Given the description of an element on the screen output the (x, y) to click on. 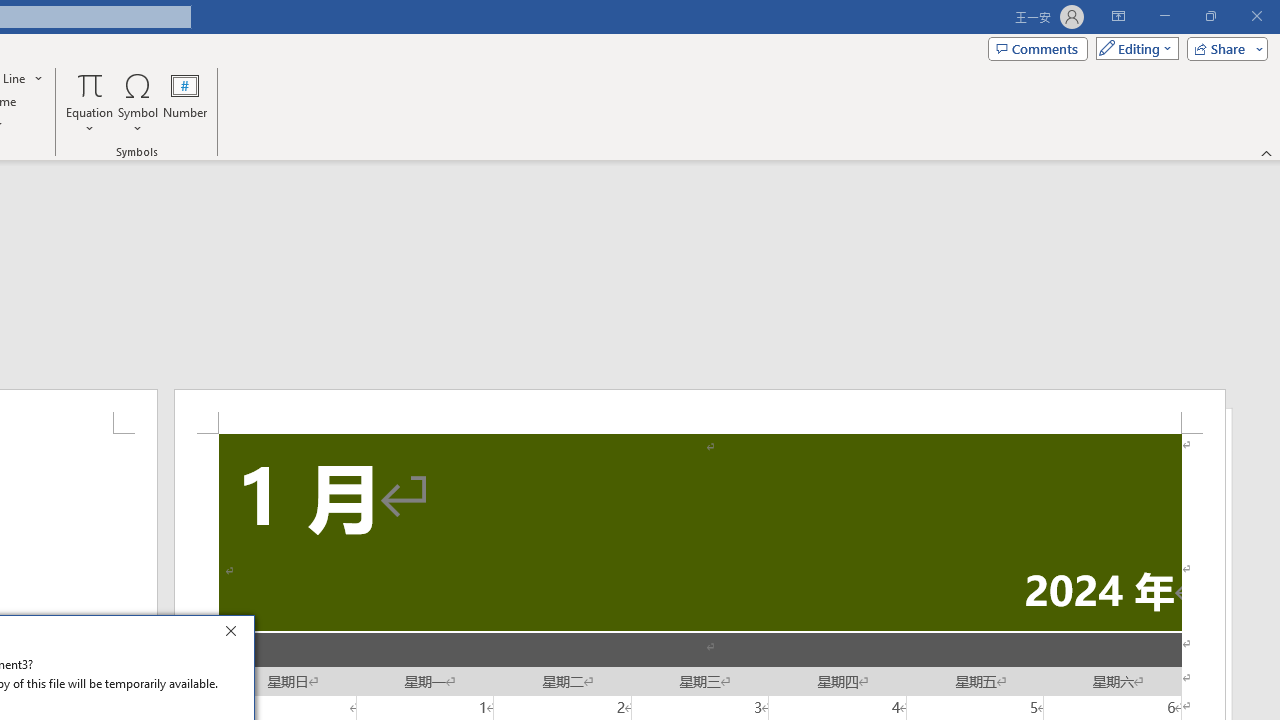
Equation (90, 102)
Number... (185, 102)
Symbol (138, 102)
